Given the description of an element on the screen output the (x, y) to click on. 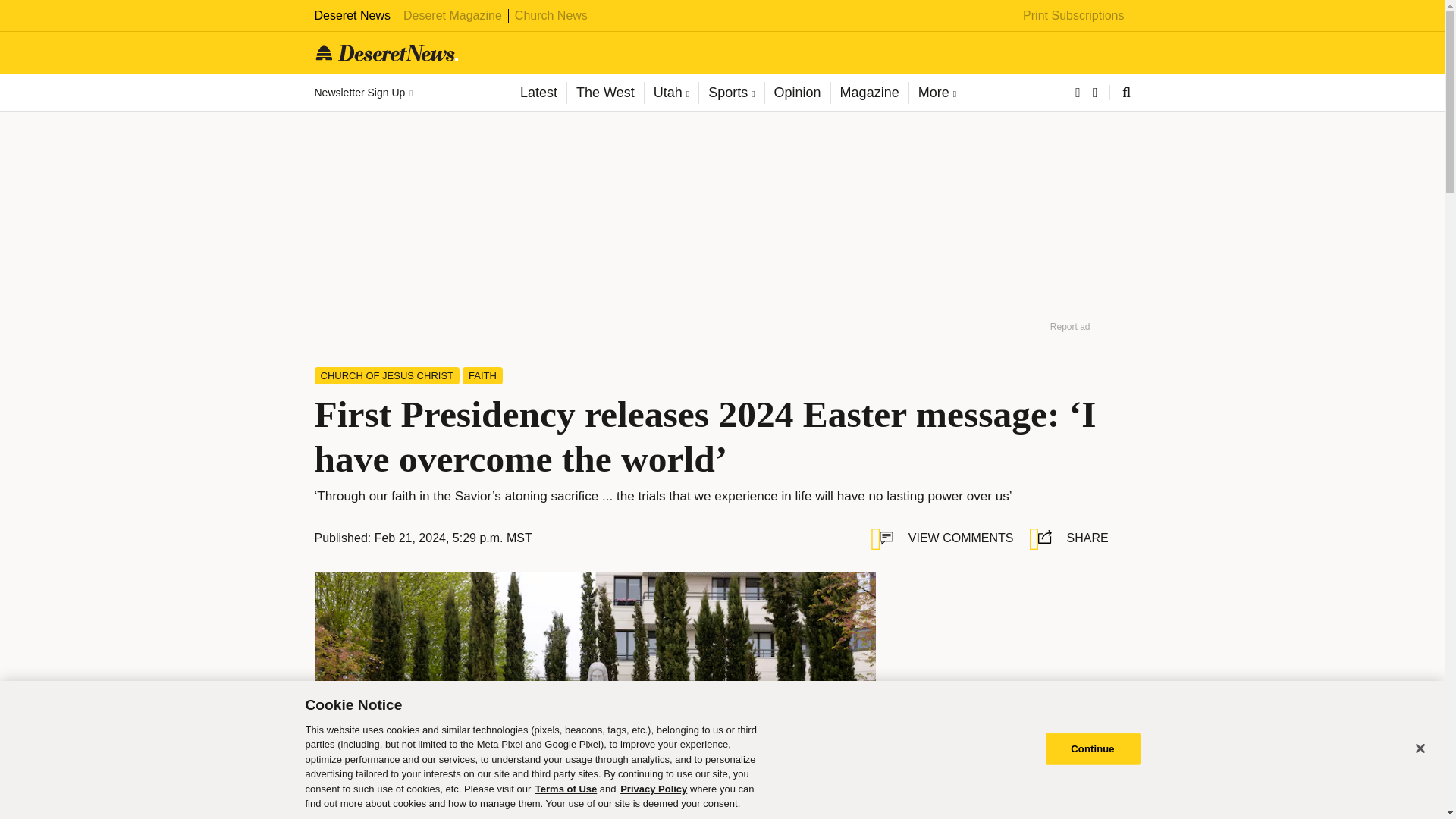
Opinion (796, 92)
Deseret Magazine (452, 15)
Utah (670, 92)
Print Subscriptions (1073, 15)
Newsletter Sign Up (363, 92)
Magazine (868, 92)
Church News (551, 15)
Deseret News (352, 15)
FAITH (482, 375)
Report ad (1069, 326)
3rd party ad content (1008, 666)
Sports (730, 92)
Latest (538, 92)
The West (604, 92)
